Given the description of an element on the screen output the (x, y) to click on. 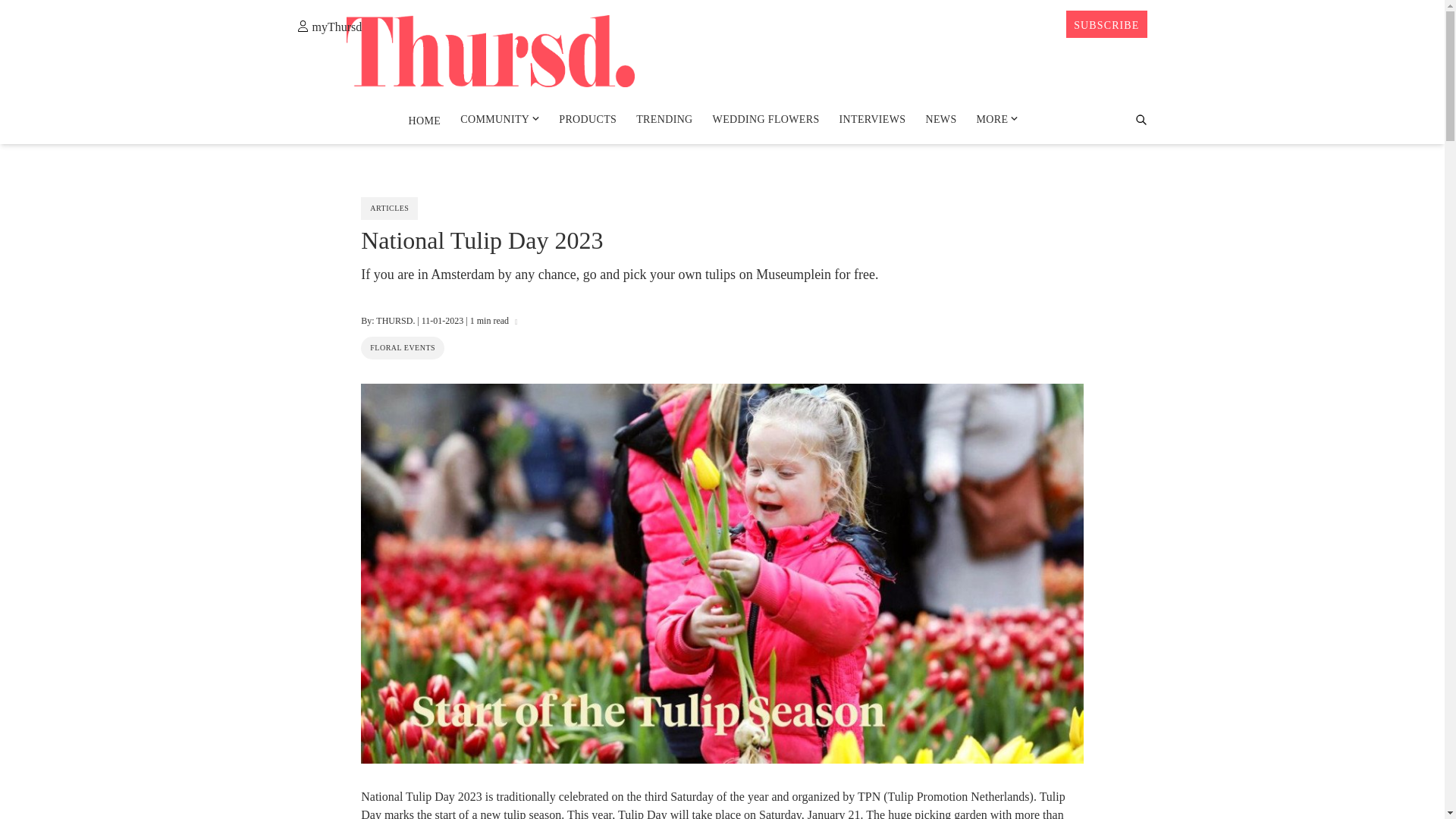
myThursd (329, 25)
SUBSCRIBE (1106, 23)
